Given the description of an element on the screen output the (x, y) to click on. 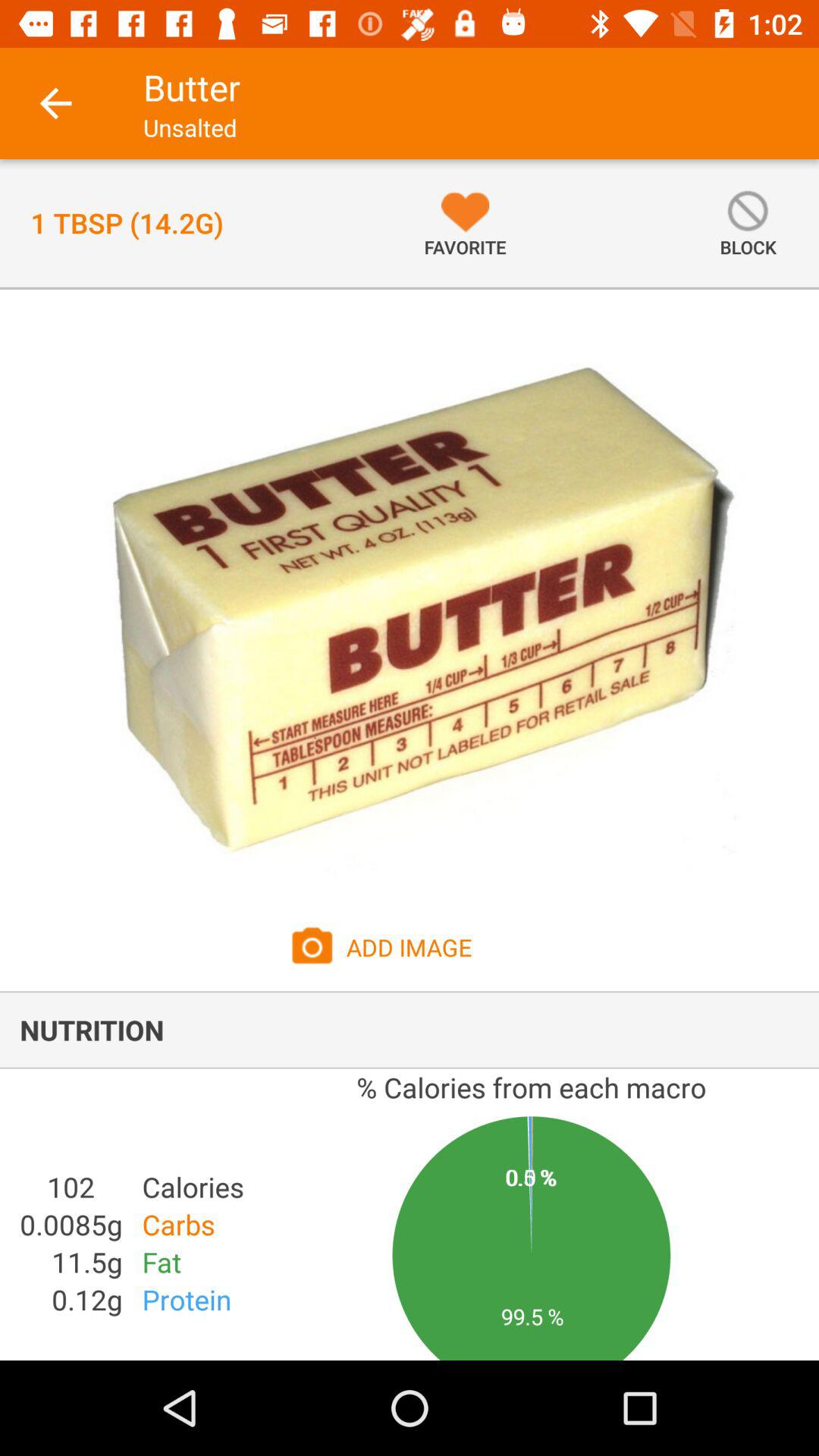
tap the item to the left of the favorite item (126, 223)
